Given the description of an element on the screen output the (x, y) to click on. 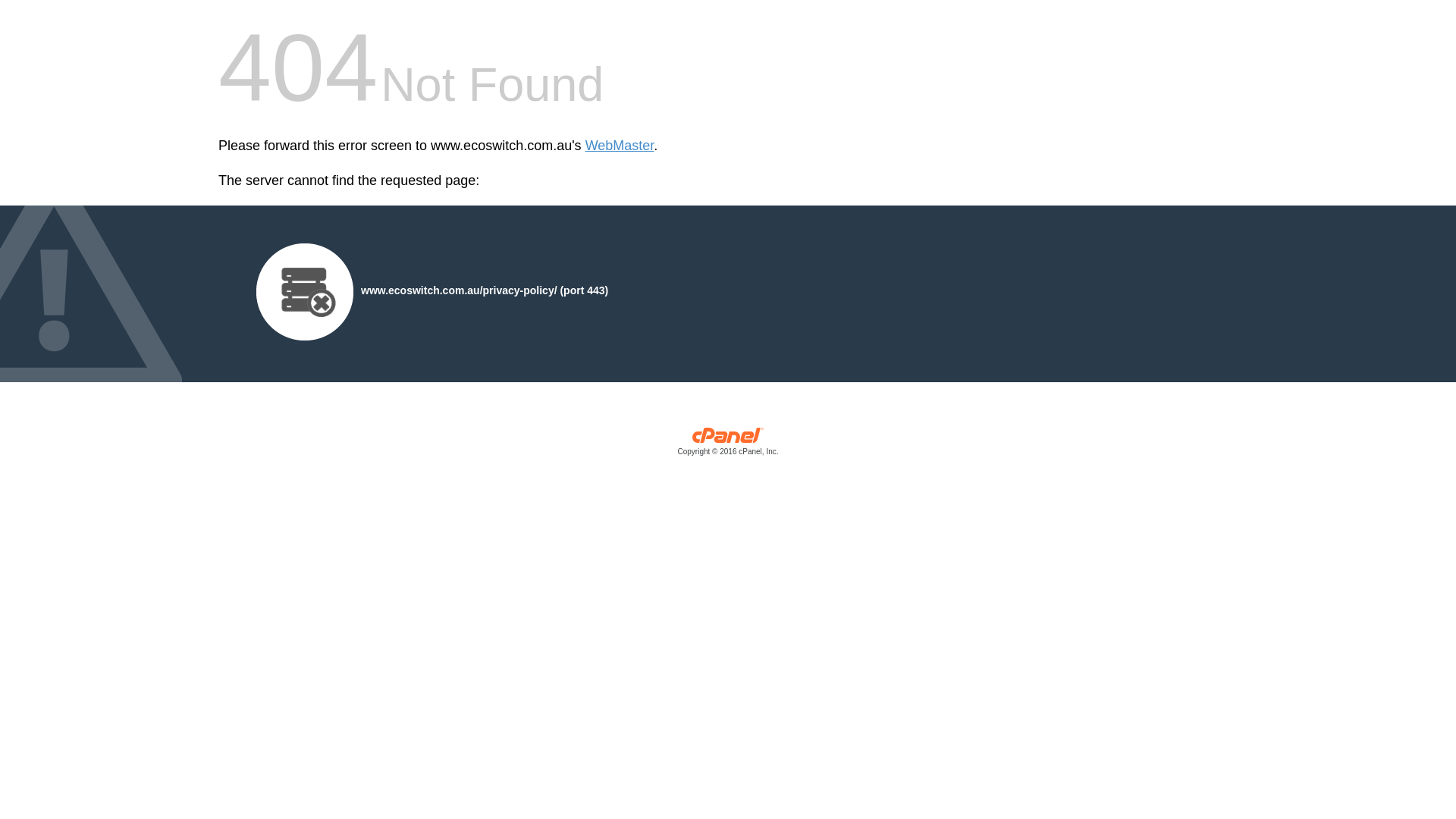
WebMaster Element type: text (619, 145)
